Given the description of an element on the screen output the (x, y) to click on. 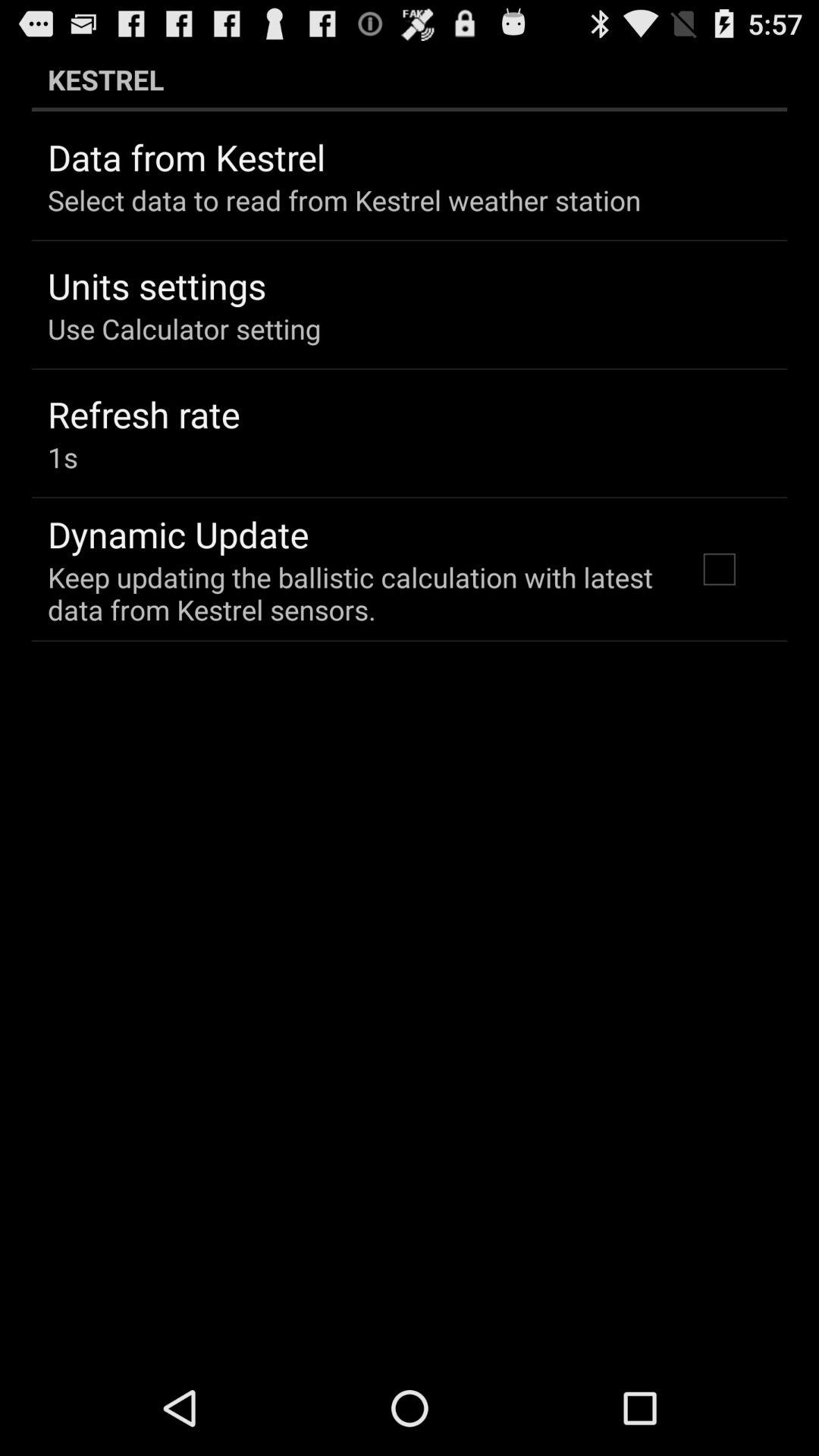
jump until select data to (343, 199)
